Given the description of an element on the screen output the (x, y) to click on. 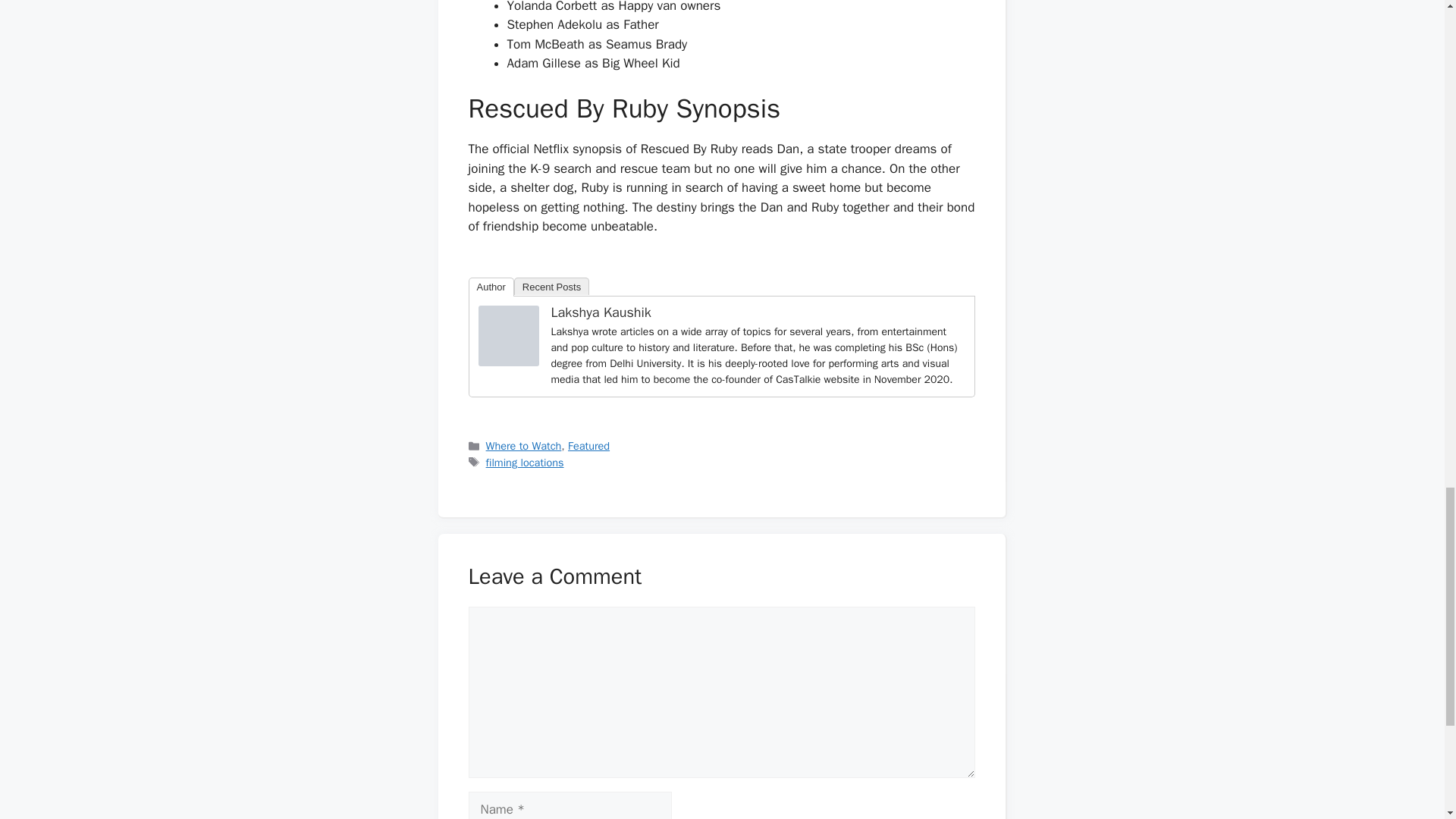
filming locations (525, 462)
Where was Rescued by Ruby filmed? Netflix Cast Details (507, 335)
Recent Posts (551, 285)
Where to Watch (524, 445)
Lakshya Kaushik (507, 361)
Featured (588, 445)
Lakshya Kaushik (600, 312)
Author (490, 286)
